Given the description of an element on the screen output the (x, y) to click on. 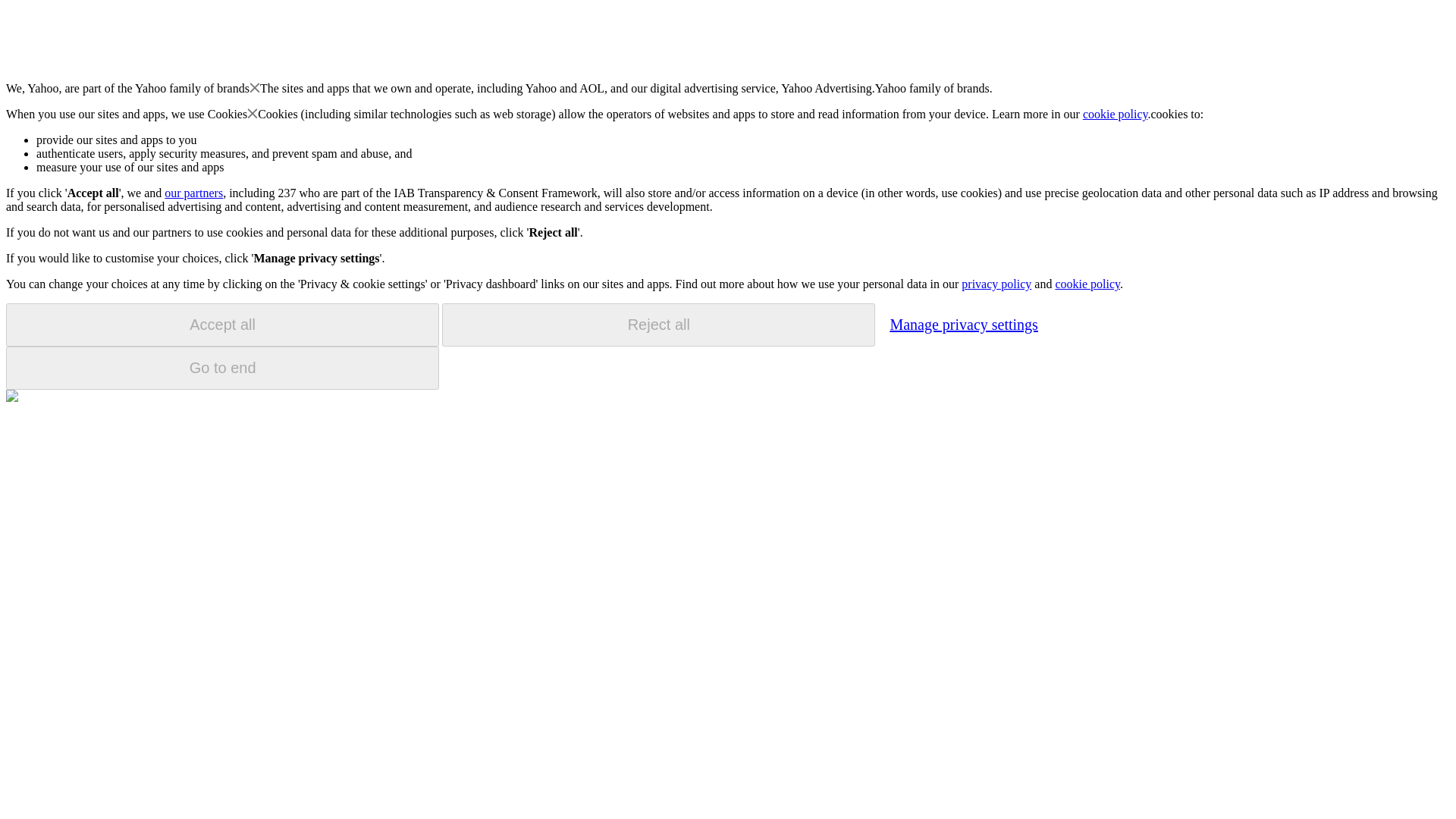
Go to end (222, 367)
Reject all (658, 324)
Manage privacy settings (963, 323)
our partners (193, 192)
cookie policy (1115, 113)
privacy policy (995, 283)
Accept all (222, 324)
cookie policy (1086, 283)
